Given the description of an element on the screen output the (x, y) to click on. 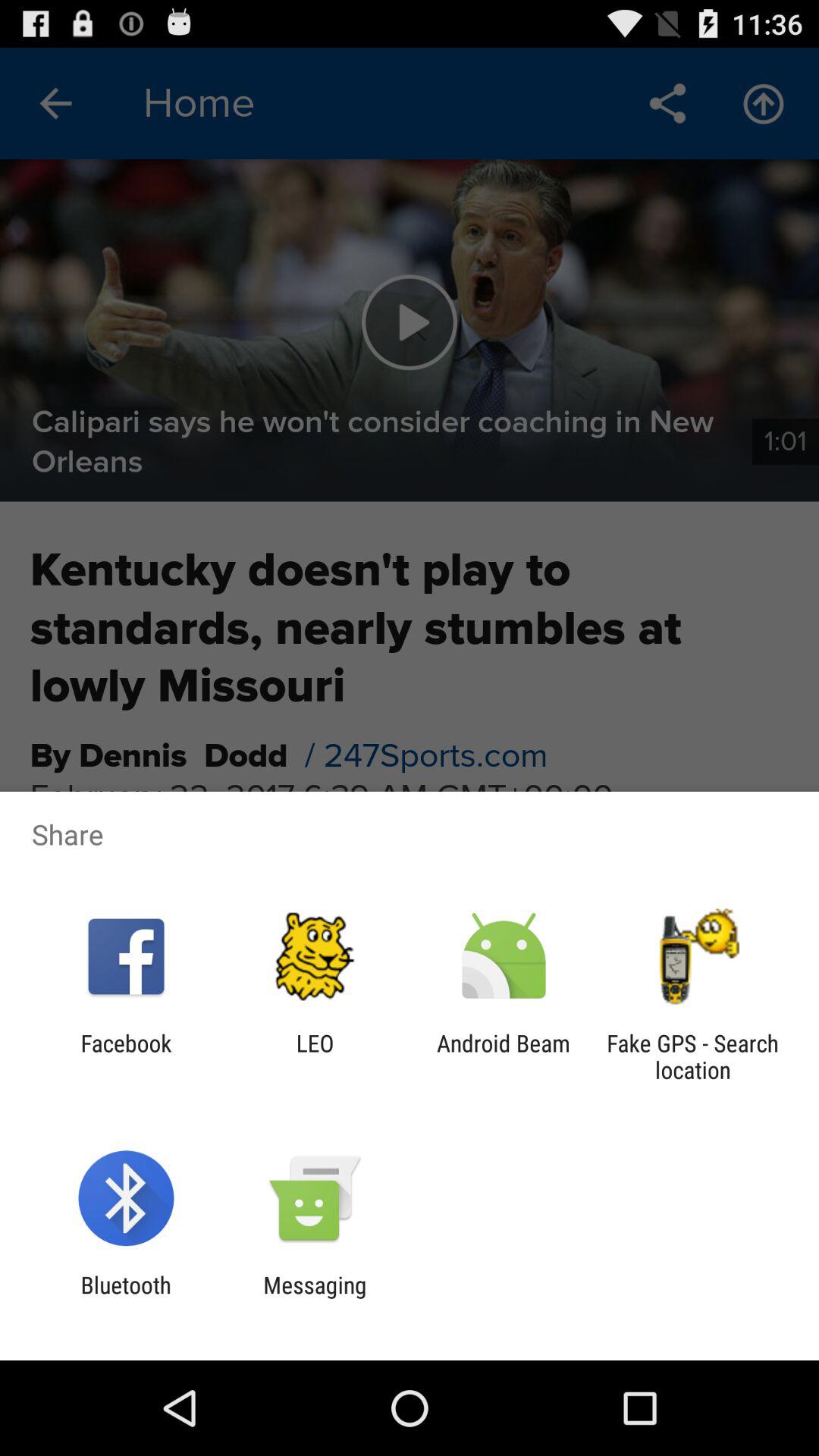
choose facebook item (125, 1056)
